Given the description of an element on the screen output the (x, y) to click on. 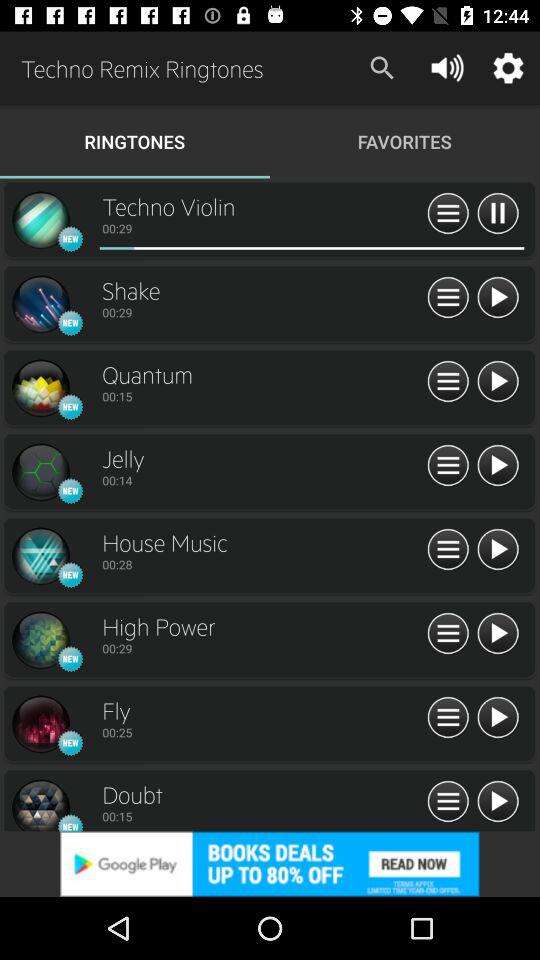
symbol of quantum (40, 388)
